Given the description of an element on the screen output the (x, y) to click on. 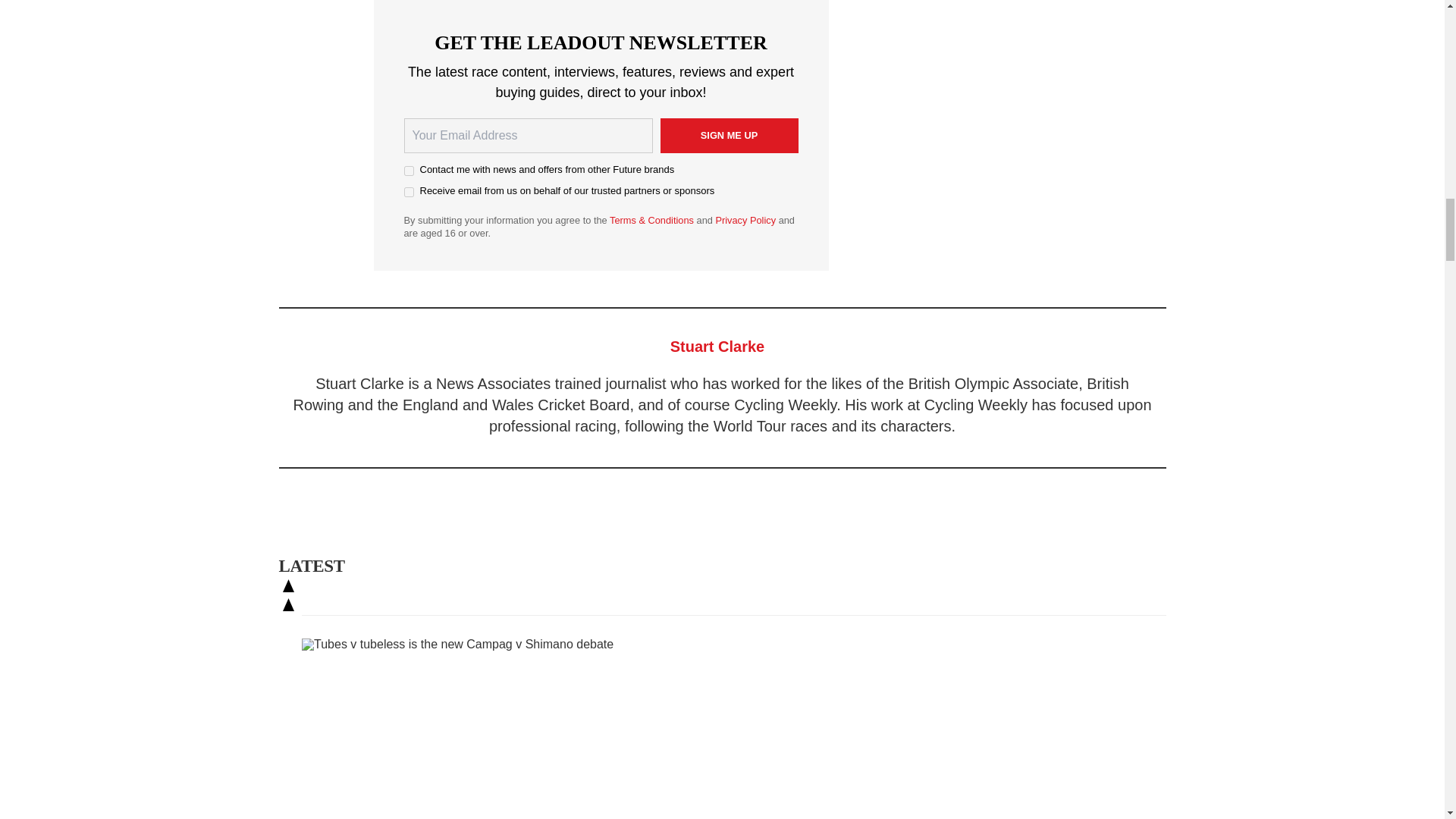
Sign me up (728, 135)
on (408, 192)
on (408, 171)
